Given the description of an element on the screen output the (x, y) to click on. 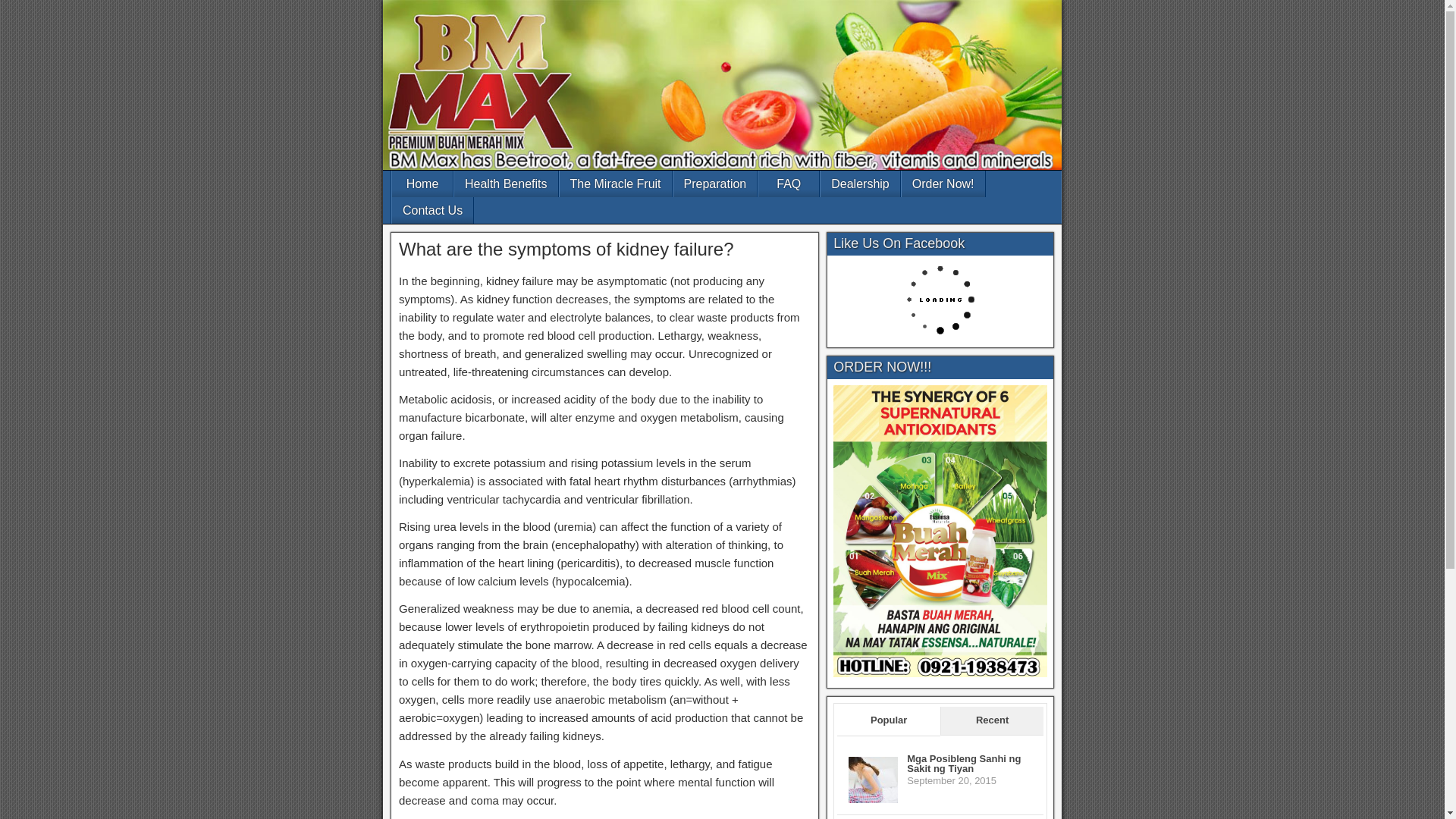
FAQ (788, 183)
Home (421, 183)
The Miracle Fruit (615, 183)
Preparation (714, 183)
Order Now! (943, 183)
Health Benefits (505, 183)
Mga Posibleng Sanhi ng Sakit ng Tiyan (873, 802)
Dealership (860, 183)
Recent (991, 720)
Mga Posibleng Sanhi ng Sakit ng Tiyan (963, 762)
